Given the description of an element on the screen output the (x, y) to click on. 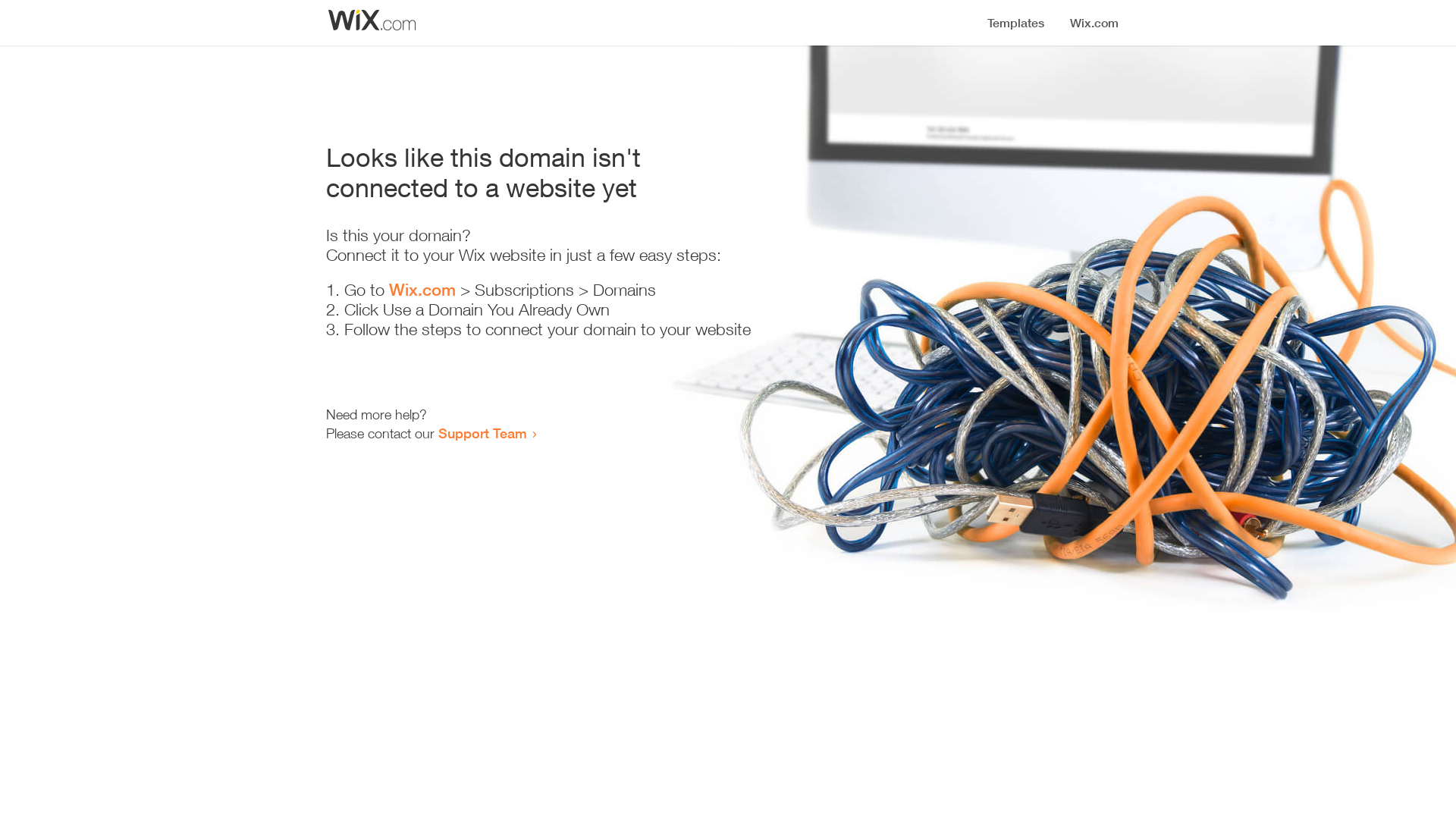
Wix.com Element type: text (422, 289)
Support Team Element type: text (482, 432)
